Given the description of an element on the screen output the (x, y) to click on. 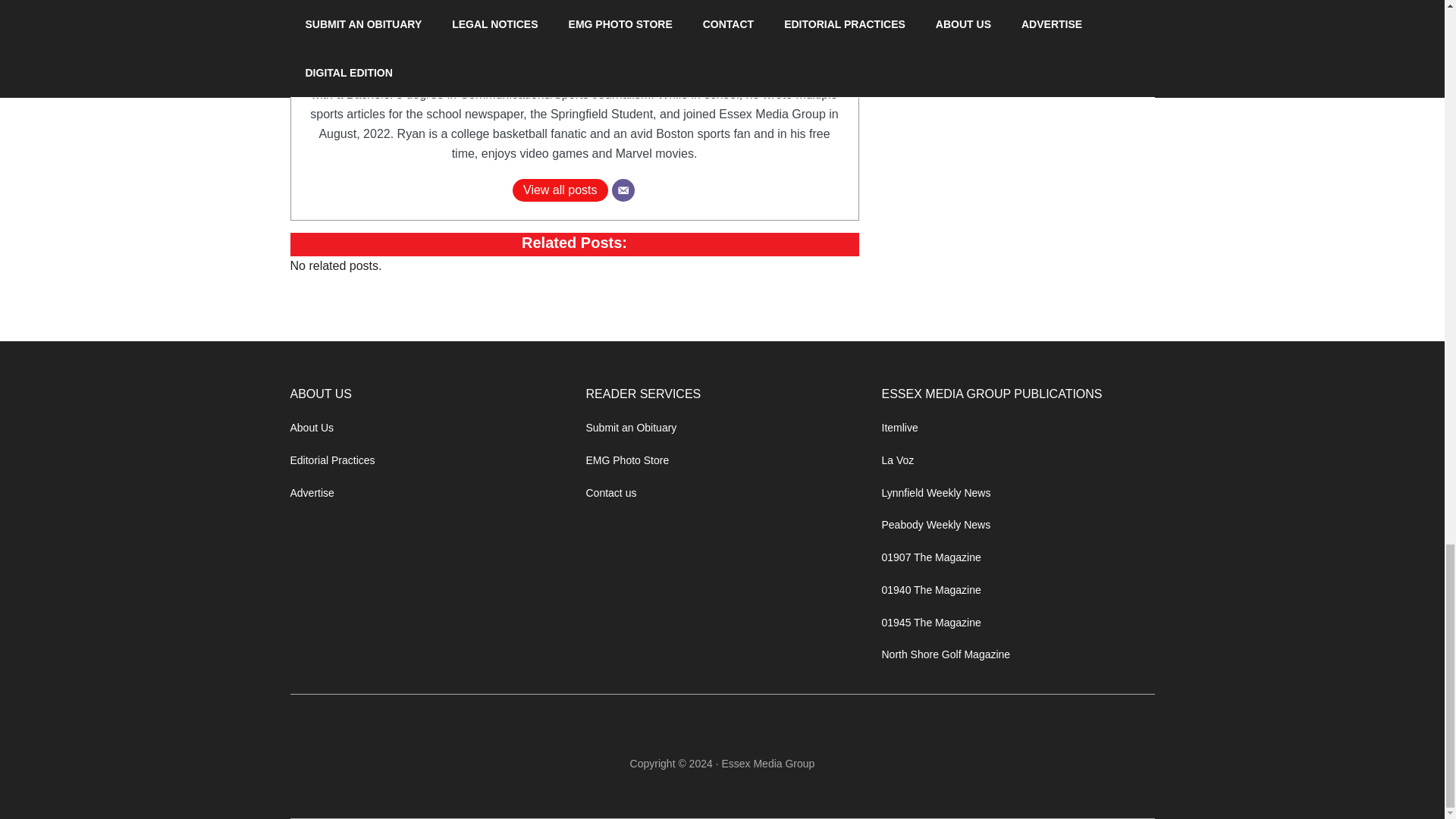
About Us (311, 427)
Advertise (311, 492)
Ryan Vermette (574, 45)
Ryan Vermette (574, 45)
View all posts (560, 190)
Editorial Practices (331, 460)
Submit an Obituary (631, 427)
View all posts (560, 190)
